Given the description of an element on the screen output the (x, y) to click on. 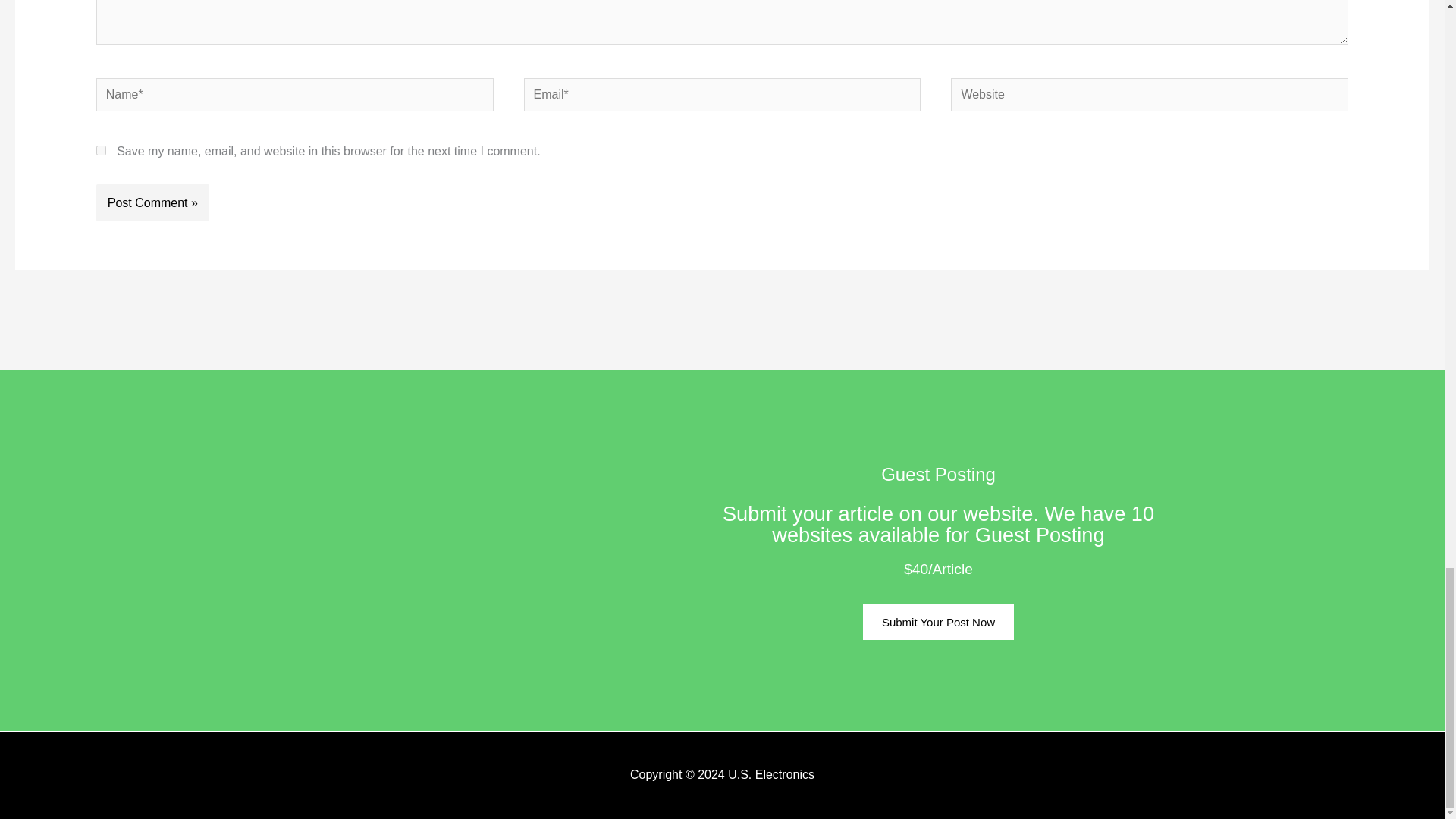
Submit Your Post Now (938, 621)
yes (101, 150)
